Given the description of an element on the screen output the (x, y) to click on. 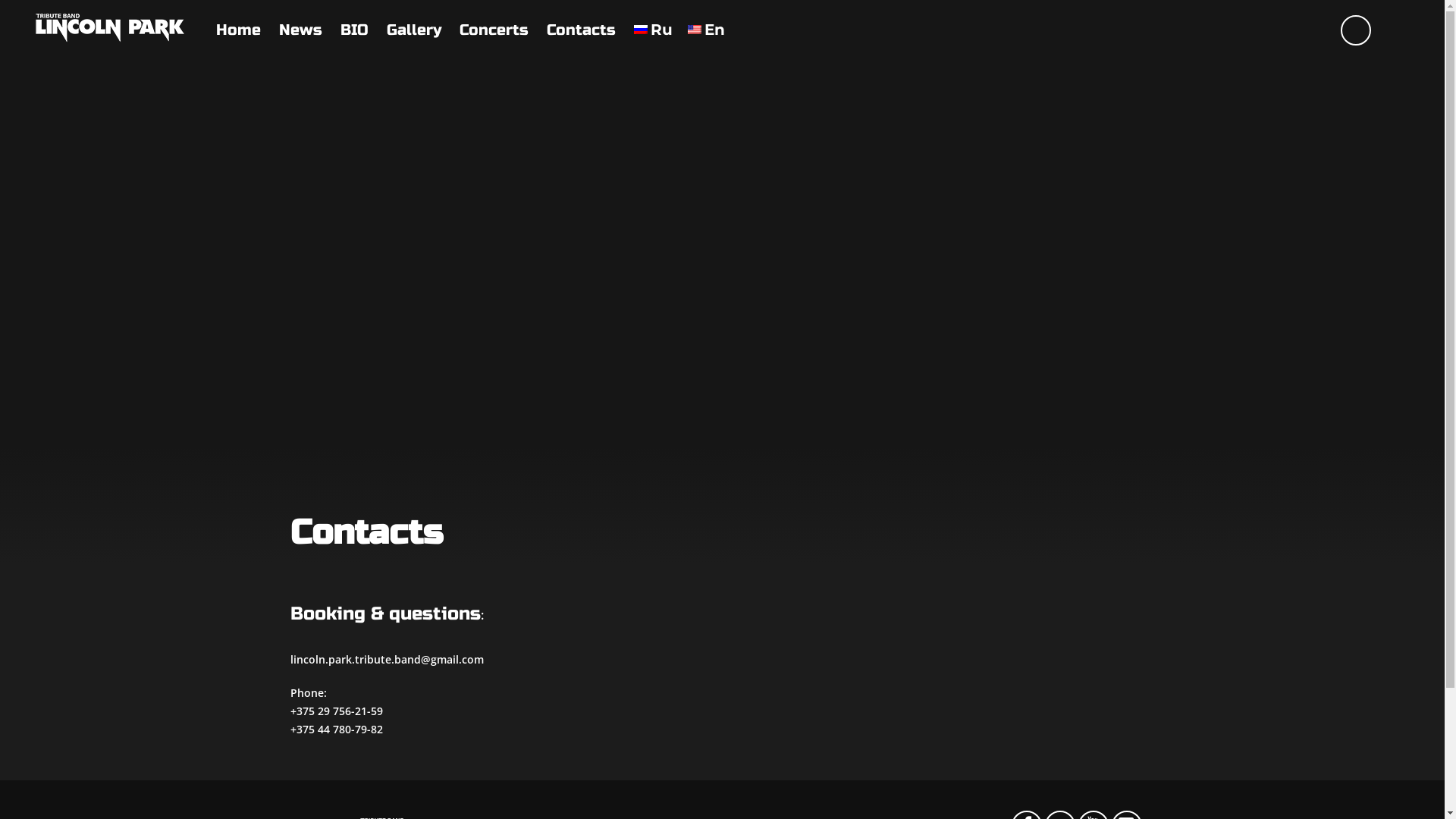
News Element type: text (300, 29)
Home Element type: text (238, 29)
Contacts Element type: text (581, 29)
Concerts Element type: text (493, 29)
BIO Element type: text (354, 29)
En Element type: text (706, 29)
Ru Element type: text (653, 29)
Gallery Element type: text (413, 29)
lincoln.park.tribute.band@gmail.com Element type: text (386, 659)
